Given the description of an element on the screen output the (x, y) to click on. 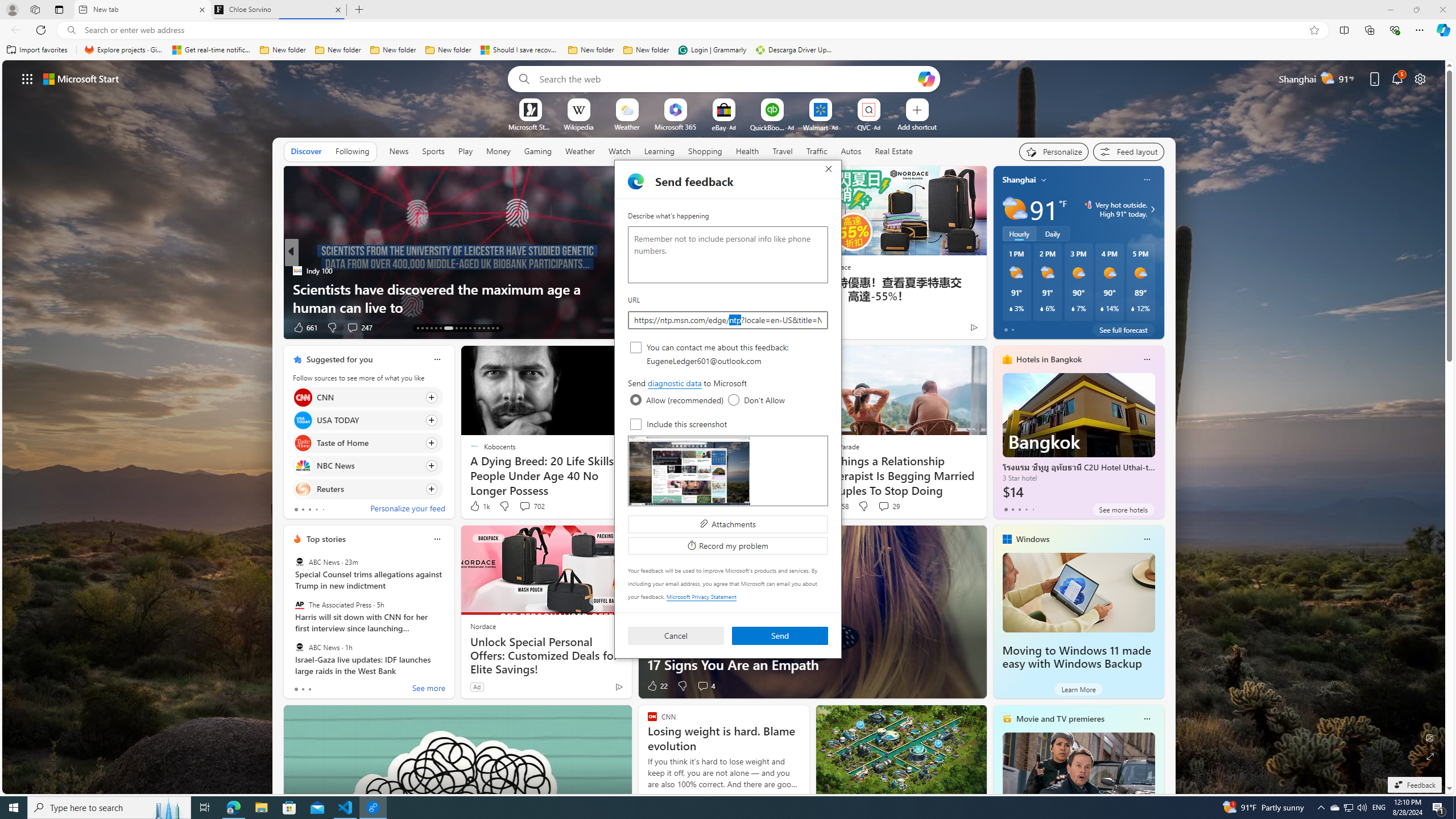
Tray Input Indicator - English (United States) (1378, 807)
